Given the description of an element on the screen output the (x, y) to click on. 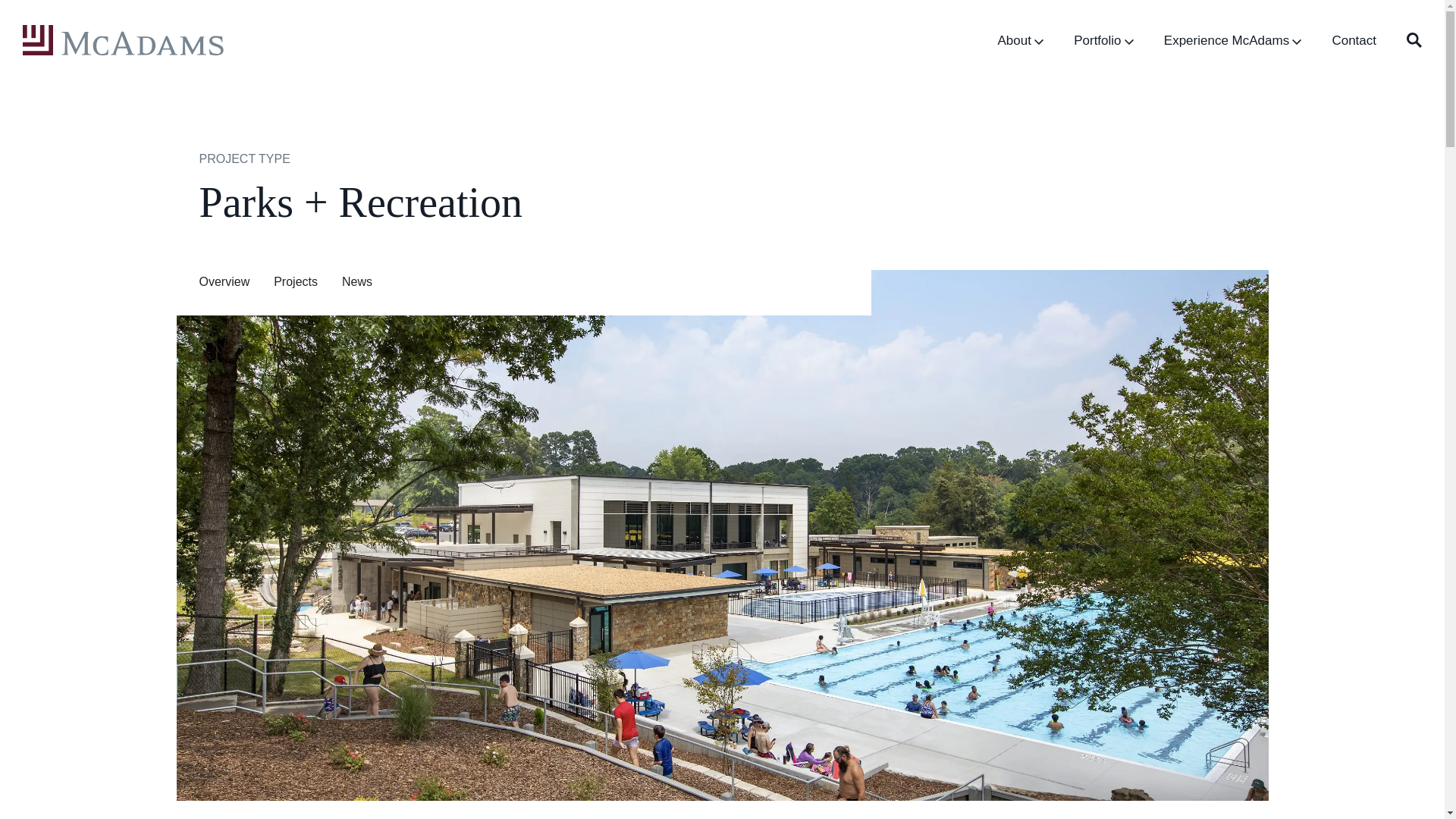
Contact (1353, 40)
homepage (123, 40)
Overview (223, 281)
About (1020, 40)
Projects (295, 281)
Experience McAdams (1232, 40)
Portfolio (1104, 40)
News (357, 281)
